Given the description of an element on the screen output the (x, y) to click on. 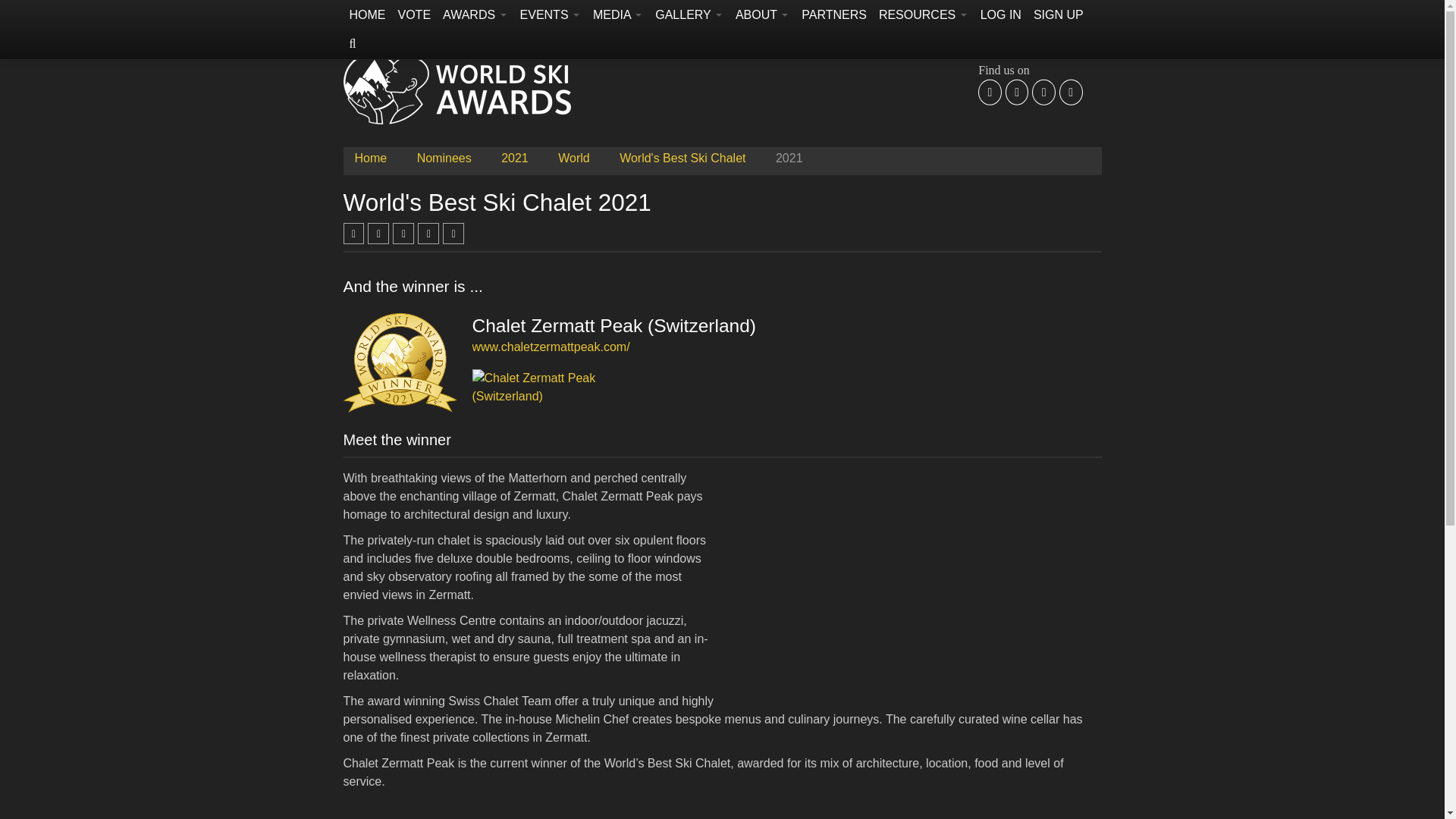
HOME (366, 15)
VOTE (413, 15)
PARTNERS (833, 15)
Find us on Twitter (1017, 92)
Share via Email (428, 234)
More sharing options via AddThis (453, 234)
Share via Facebook (353, 233)
Find us on Instagram (1043, 92)
Share via Twitter (378, 233)
Share via LinkedIn (403, 233)
